Given the description of an element on the screen output the (x, y) to click on. 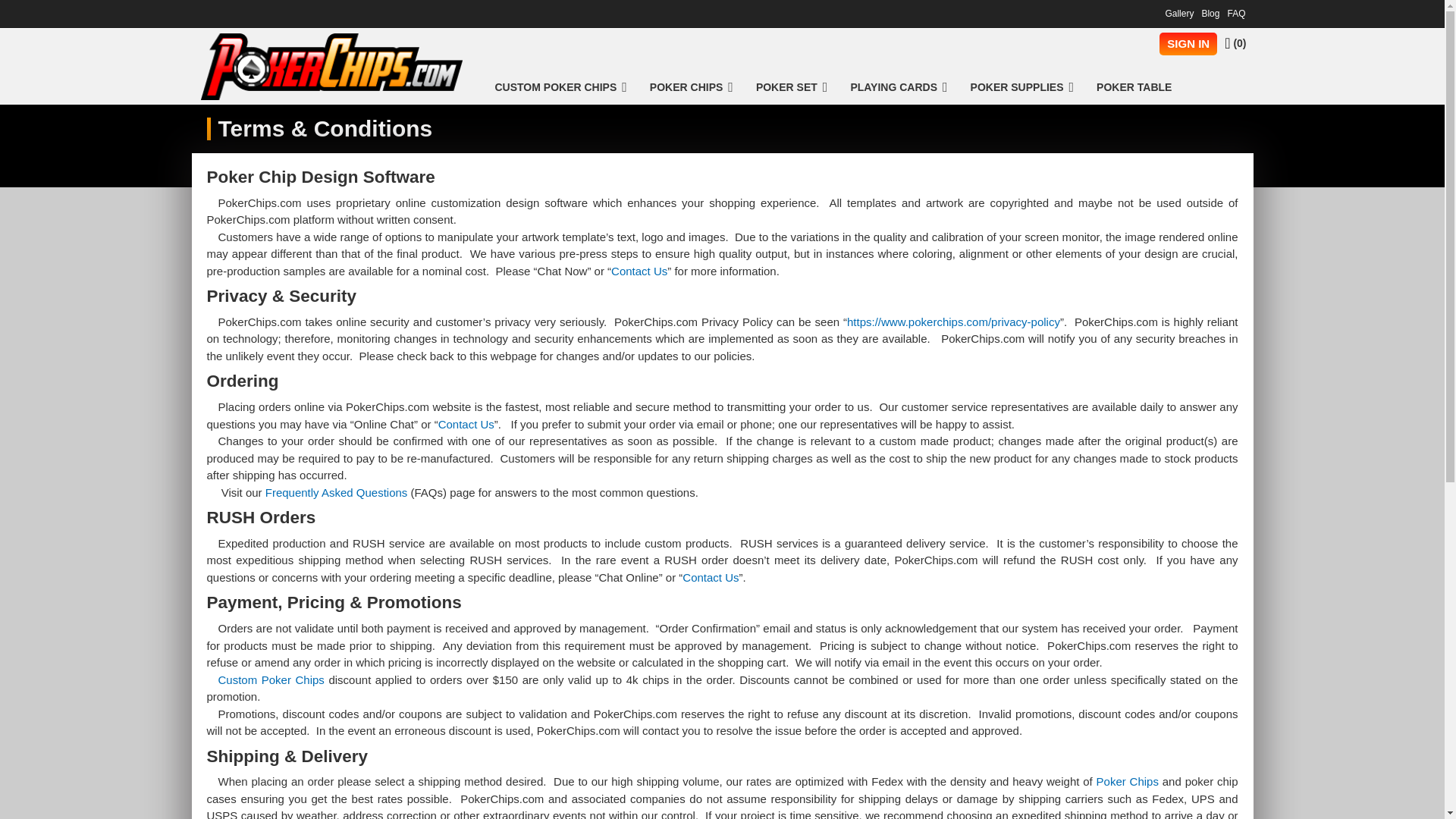
Blog (1210, 13)
Poker Chips, Custom Poker Chips and Poker Chips Set (331, 66)
FAQ (1235, 13)
POKER SET (791, 87)
Poker Chips (691, 87)
POKER CHIPS (691, 87)
PLAYING CARDS (898, 87)
Poker Chips, Custom Poker Chips and Poker Chips Set (331, 66)
Custom Poker Chips (560, 87)
CUSTOM POKER CHIPS (560, 87)
